Given the description of an element on the screen output the (x, y) to click on. 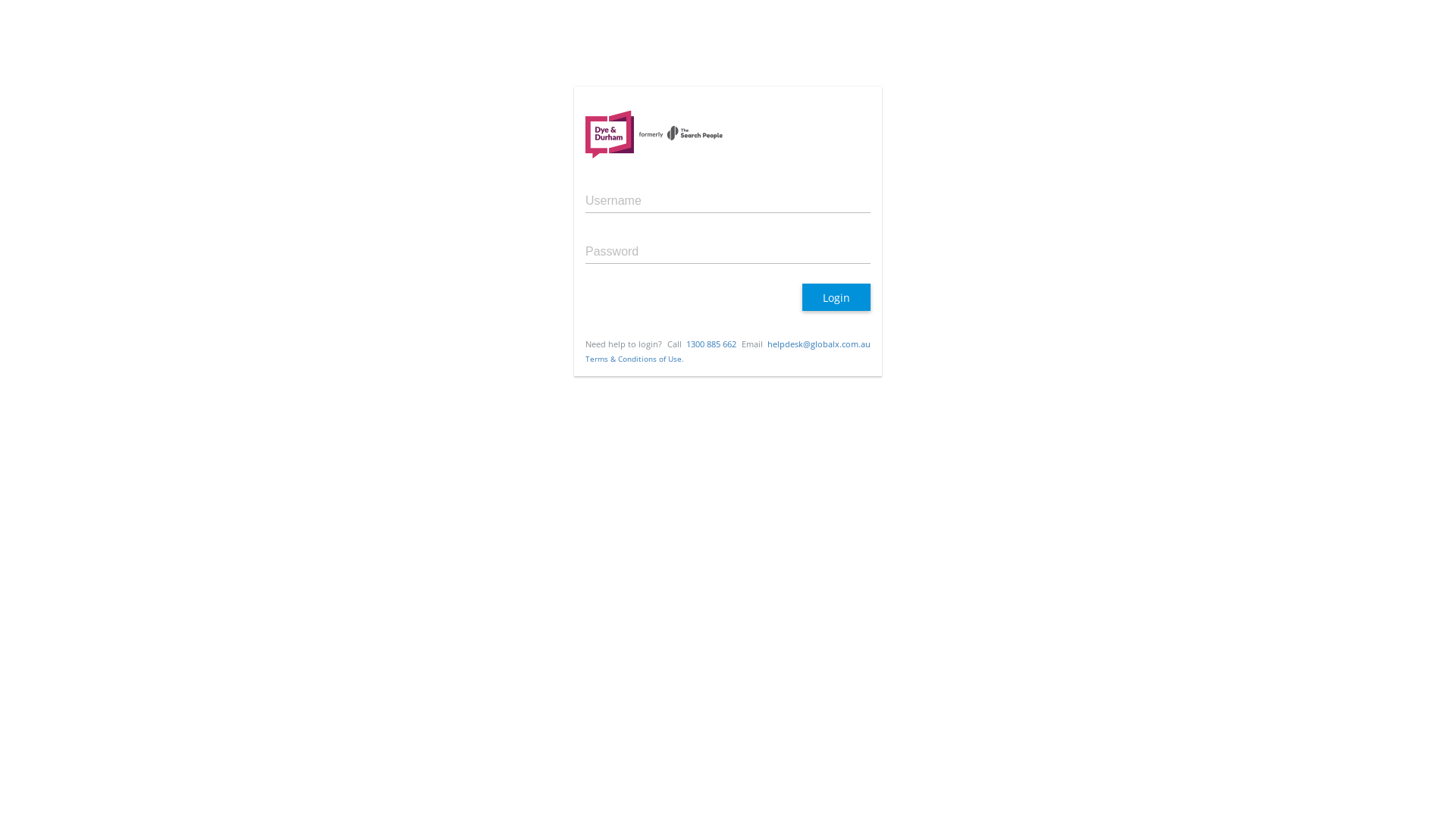
Terms & Conditions of Use. Element type: text (634, 359)
Login Element type: text (836, 296)
1300 885 662 Element type: text (711, 343)
helpdesk@globalx.com.au Element type: text (818, 343)
